Given the description of an element on the screen output the (x, y) to click on. 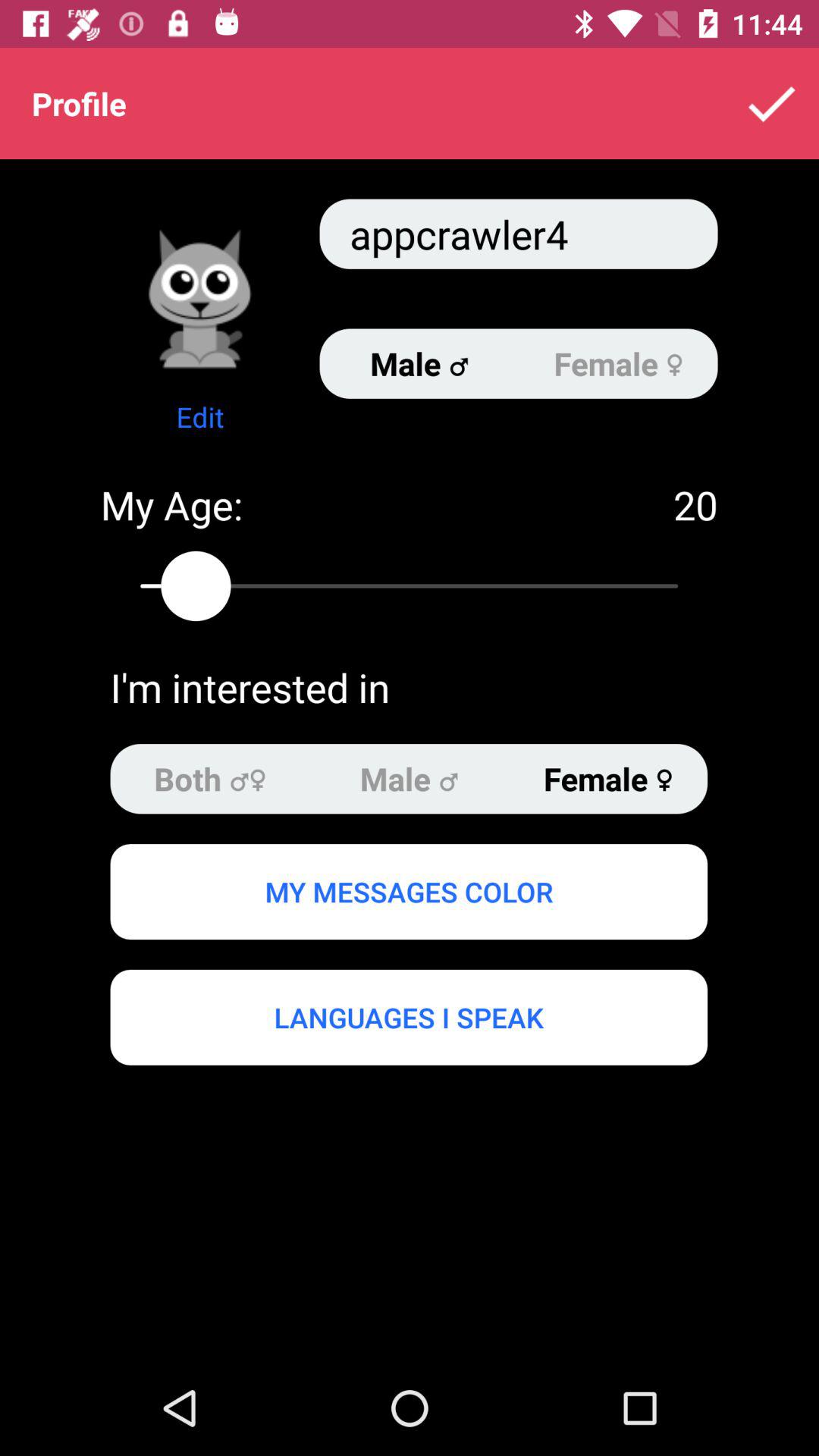
tap the my messages color icon (408, 891)
